Given the description of an element on the screen output the (x, y) to click on. 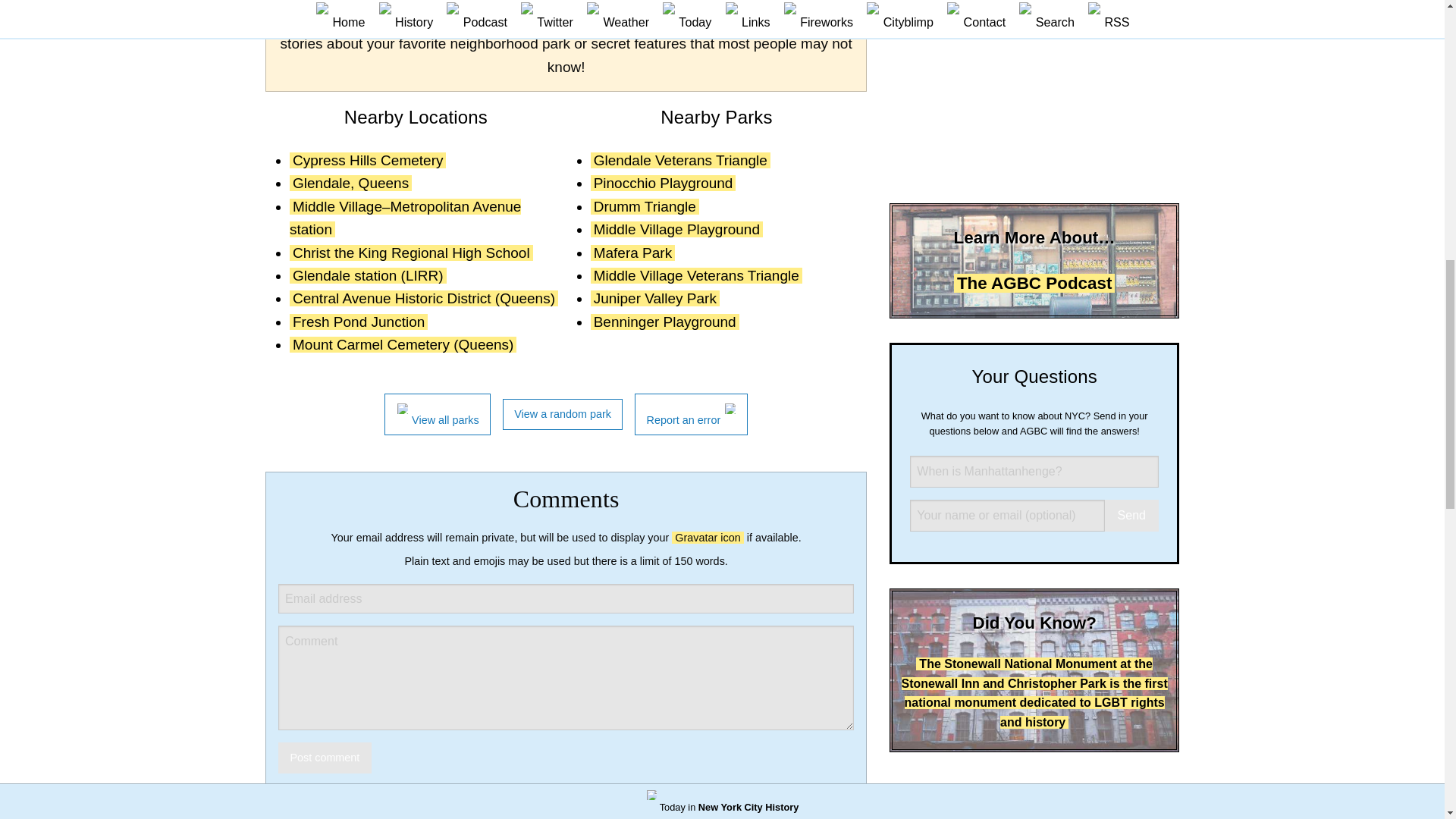
Pinocchio Playground (663, 182)
send us an email (754, 20)
Glendale, Queens (350, 182)
Juniper Valley Park (655, 298)
Gravatar icon (706, 537)
Glendale Veterans Triangle (680, 160)
Benninger Playground (665, 321)
Christ the King Regional High School (410, 252)
Mafera Park (633, 252)
Drumm Triangle (644, 206)
Middle Village Playground (676, 229)
Post comment (324, 757)
Fresh Pond Junction (358, 321)
View all parks (437, 413)
Send (1131, 515)
